Given the description of an element on the screen output the (x, y) to click on. 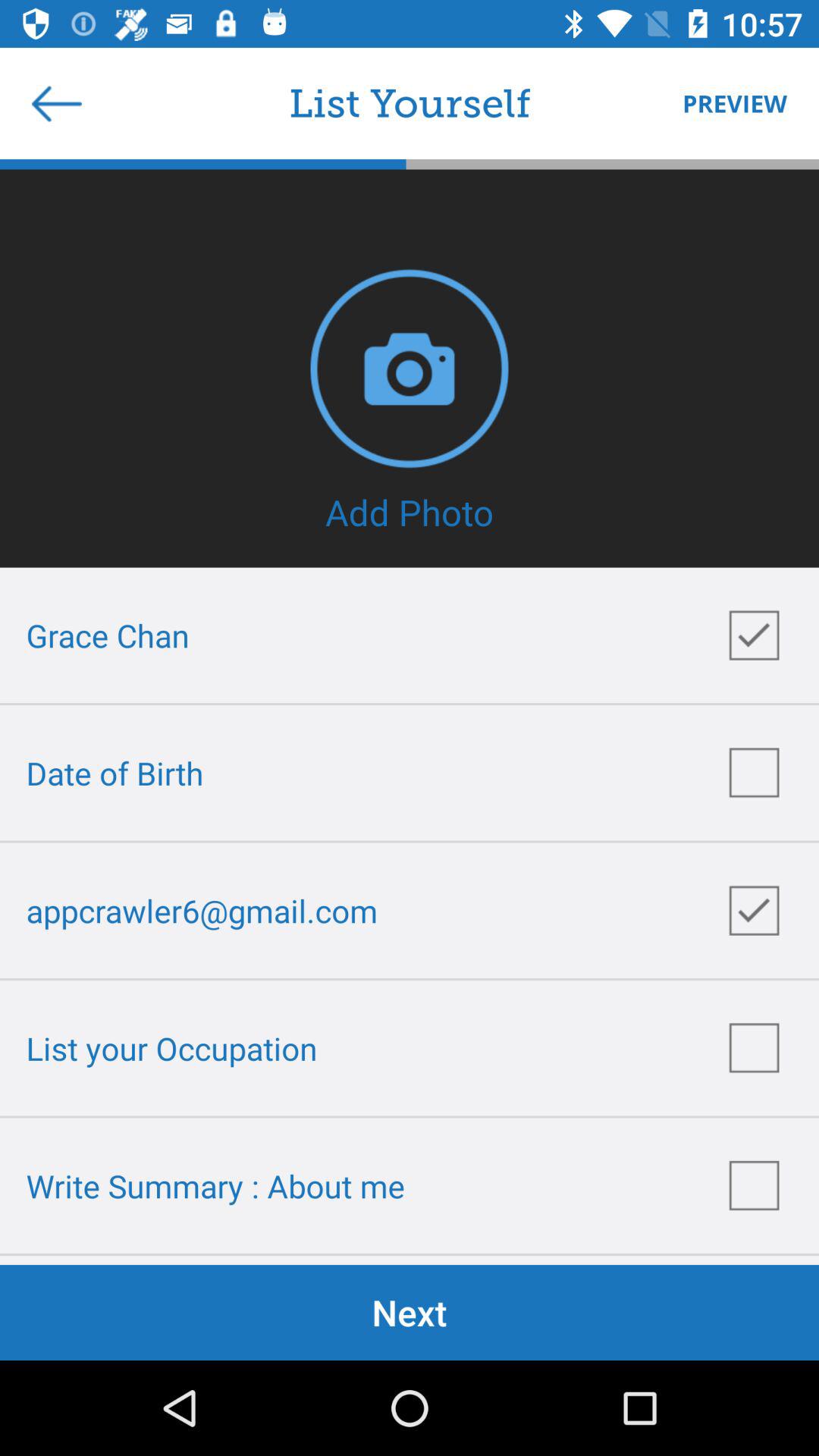
open item next to the list yourself item (56, 103)
